Given the description of an element on the screen output the (x, y) to click on. 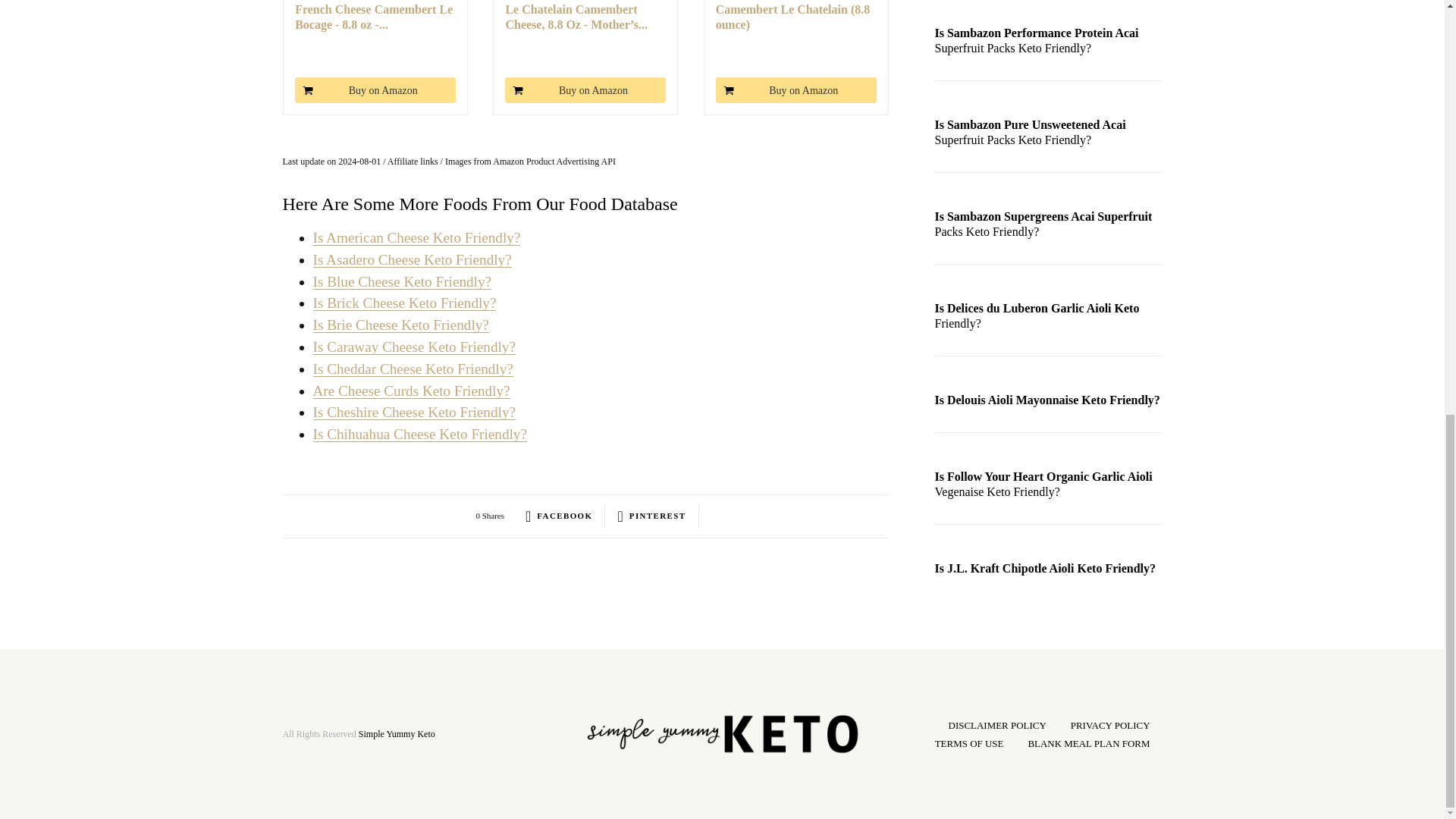
Buy on Amazon (375, 89)
Is Blue Cheese Keto Friendly? (402, 281)
Buy on Amazon (796, 89)
PINTEREST (651, 516)
Buy on Amazon (585, 89)
Buy on Amazon (796, 89)
Are Cheese Curds Keto Friendly? (411, 390)
Is Caraway Cheese Keto Friendly? (414, 346)
Is Cheddar Cheese Keto Friendly? (412, 368)
Buy on Amazon (375, 89)
Is American Cheese Keto Friendly? (416, 237)
French Cheese Camembert Le Bocage - 8.8 oz -... (375, 17)
FACEBOOK (558, 516)
Is Chihuahua Cheese Keto Friendly? (419, 433)
Is Cheshire Cheese Keto Friendly? (414, 412)
